Given the description of an element on the screen output the (x, y) to click on. 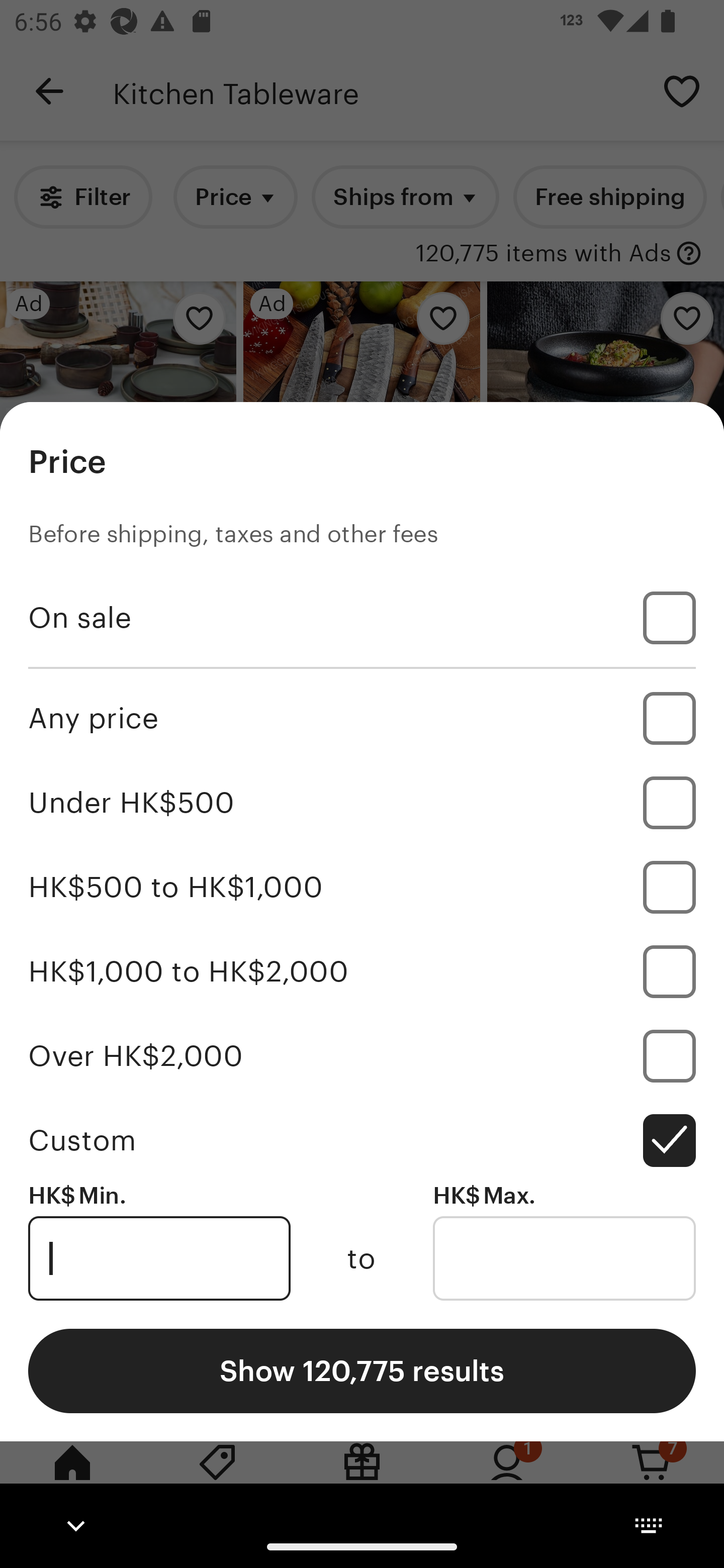
On sale (362, 617)
Any price (362, 717)
Under HK$500 (362, 802)
HK$500 to HK$1,000 (362, 887)
HK$1,000 to HK$2,000 (362, 970)
Over HK$2,000 (362, 1054)
Custom (362, 1139)
Show 120,775 results (361, 1370)
